Given the description of an element on the screen output the (x, y) to click on. 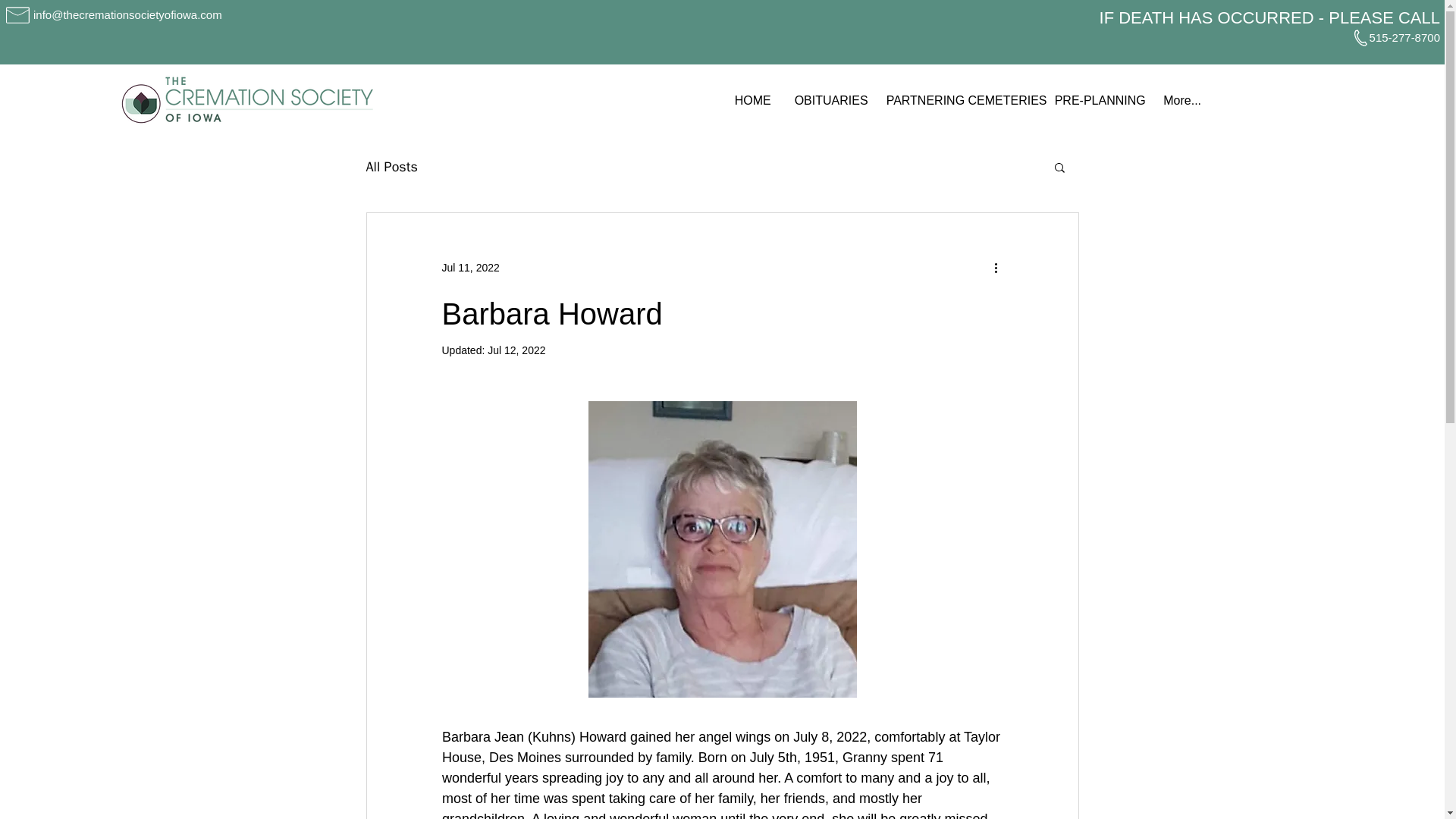
HOME (752, 100)
OBITUARIES (829, 100)
All Posts (390, 167)
Jul 12, 2022 (515, 349)
PARTNERING CEMETERIES (959, 100)
CALL (1418, 17)
Jul 11, 2022 (470, 266)
PRE-PLANNING (1097, 100)
515-277-8700 (1404, 37)
